Given the description of an element on the screen output the (x, y) to click on. 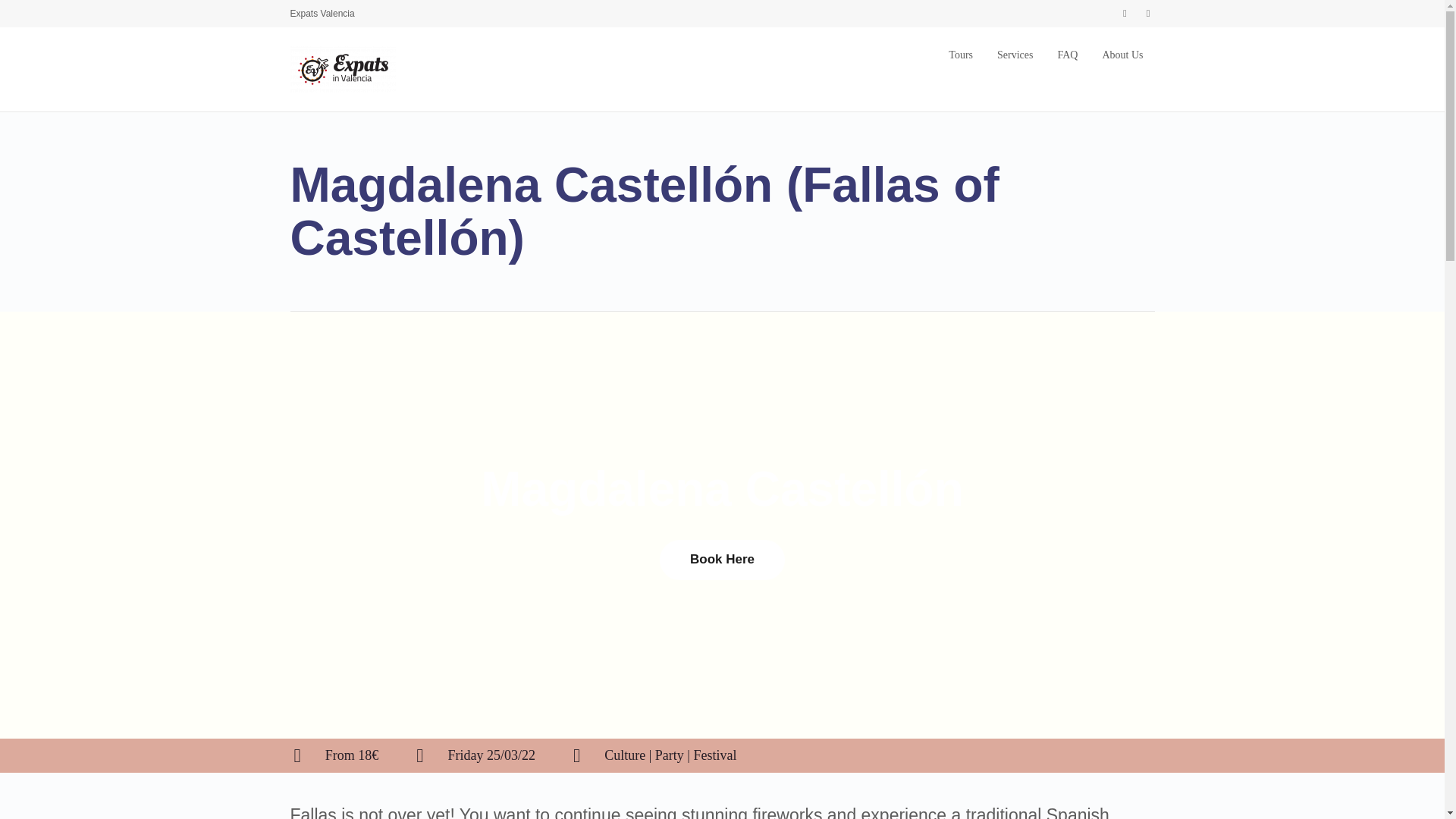
Services (1014, 55)
About Us (1122, 55)
Book Here (721, 559)
